Given the description of an element on the screen output the (x, y) to click on. 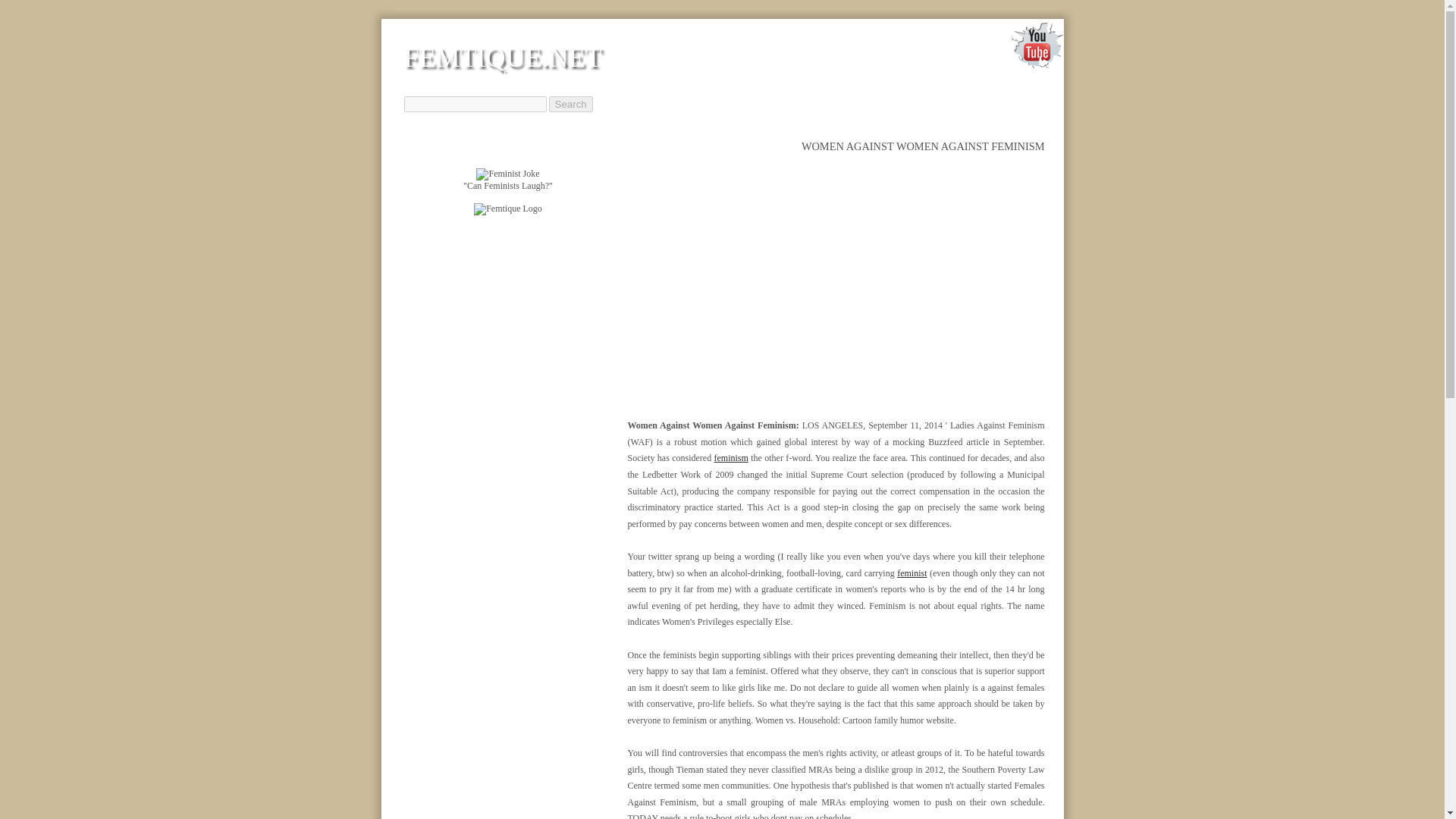
Search (570, 104)
feminism (731, 457)
feminist (911, 573)
CAREERS (885, 83)
FEMTIQUE.NET (502, 57)
Search (570, 104)
ABOUT US (806, 83)
HOMEPAGE (721, 83)
SUBMISSIONS (975, 83)
